Given the description of an element on the screen output the (x, y) to click on. 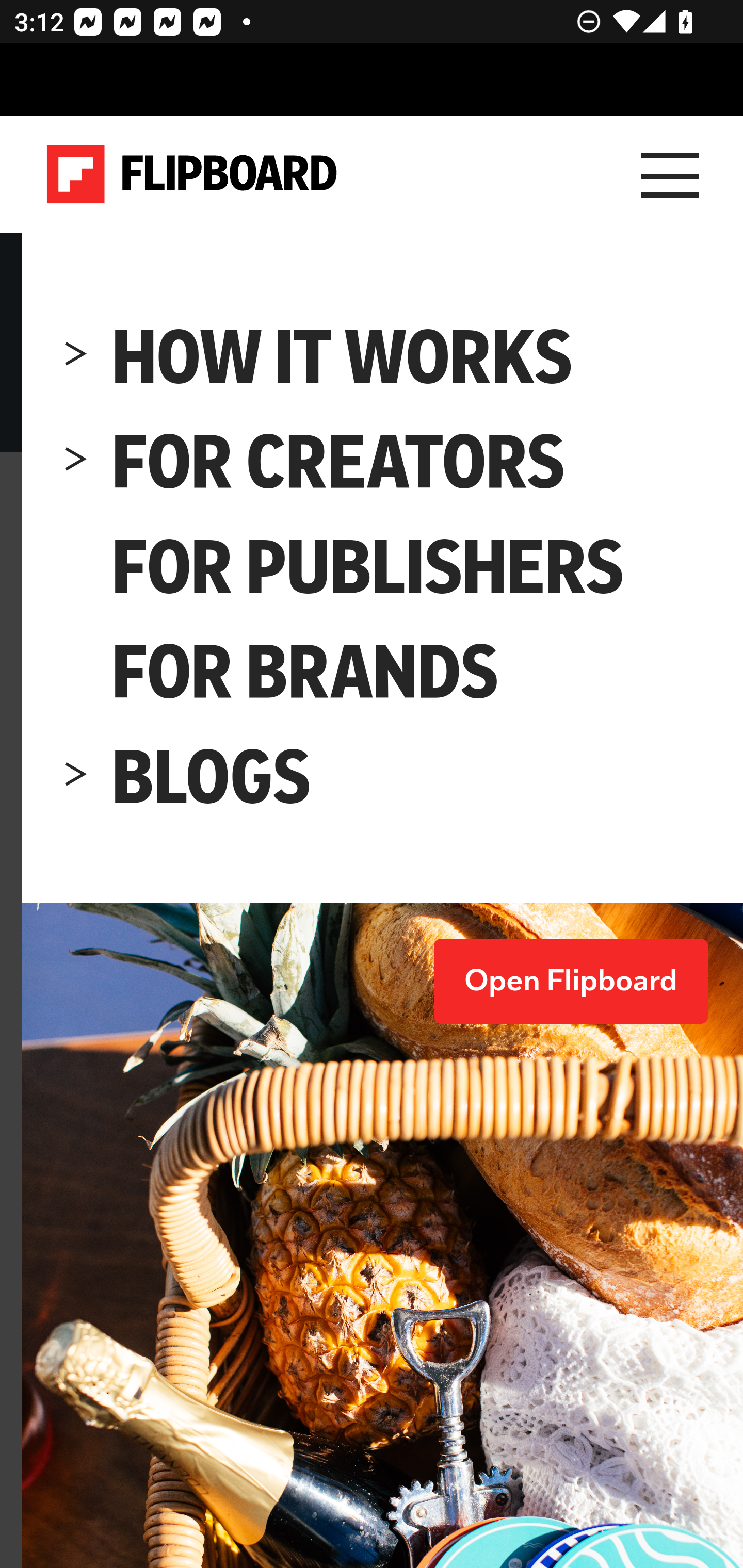
Flipboard Logo (192, 174)
HOW IT WORKS (343, 357)
 (76, 357)
FOR CREATORS (339, 462)
 (76, 462)
FOR PUBLISHERS (368, 567)
 (76, 567)
FOR BRANDS (306, 672)
 (76, 673)
BLOGS (212, 778)
 (76, 778)
Open Flipboard (571, 980)
